Given the description of an element on the screen output the (x, y) to click on. 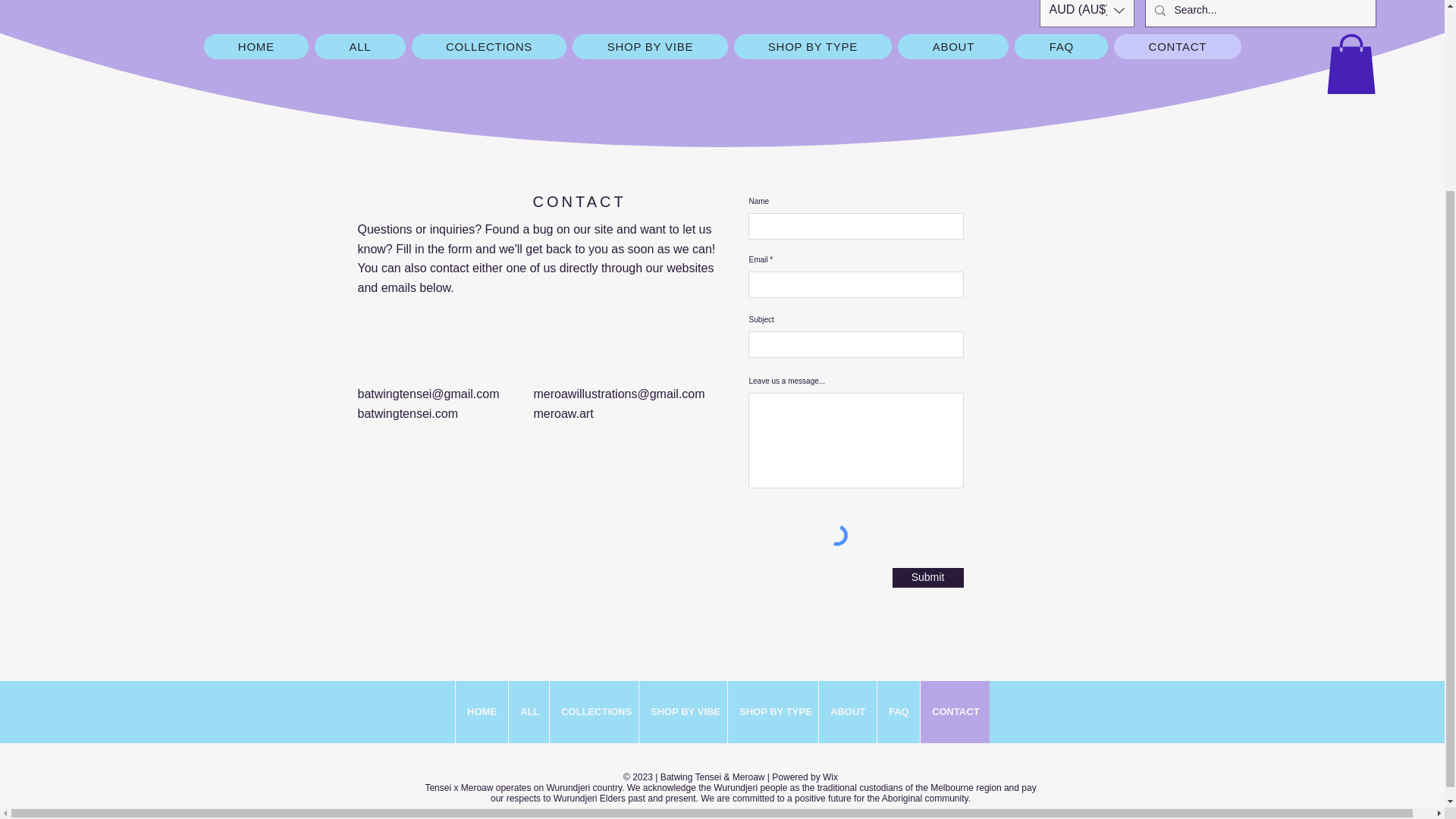
FAQ (1061, 46)
ALL (360, 46)
Submit (926, 578)
SHOP BY TYPE (812, 46)
ABOUT (953, 46)
HOME (255, 46)
CONTACT (1176, 46)
